Given the description of an element on the screen output the (x, y) to click on. 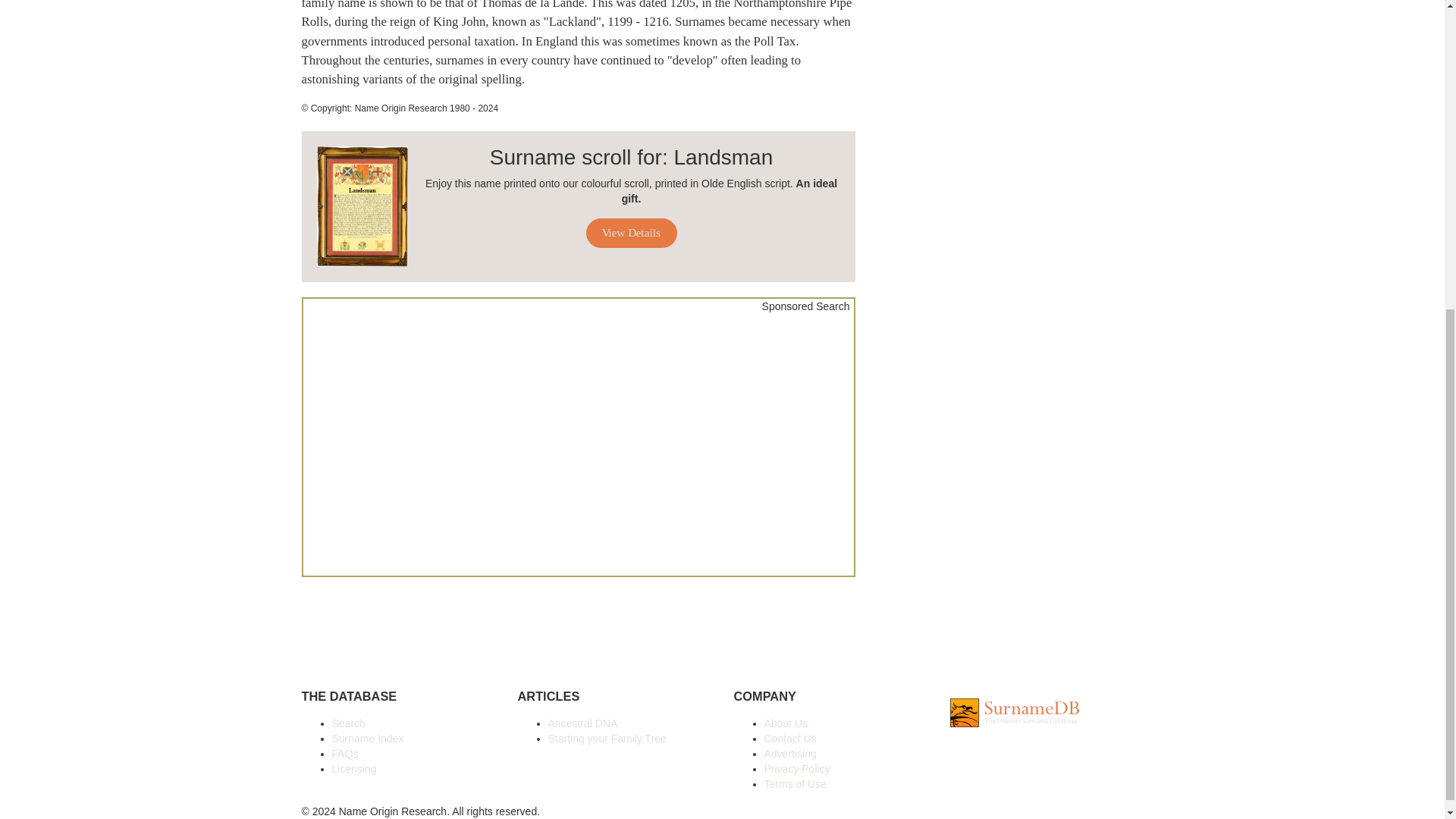
Starting your Family Tree (606, 738)
Surname scroll for: Landsman (578, 157)
About Us (786, 723)
Terms of Use (795, 784)
Search (348, 723)
Ancestral DNA (582, 723)
Contact Us (790, 738)
Advertising (790, 753)
